Given the description of an element on the screen output the (x, y) to click on. 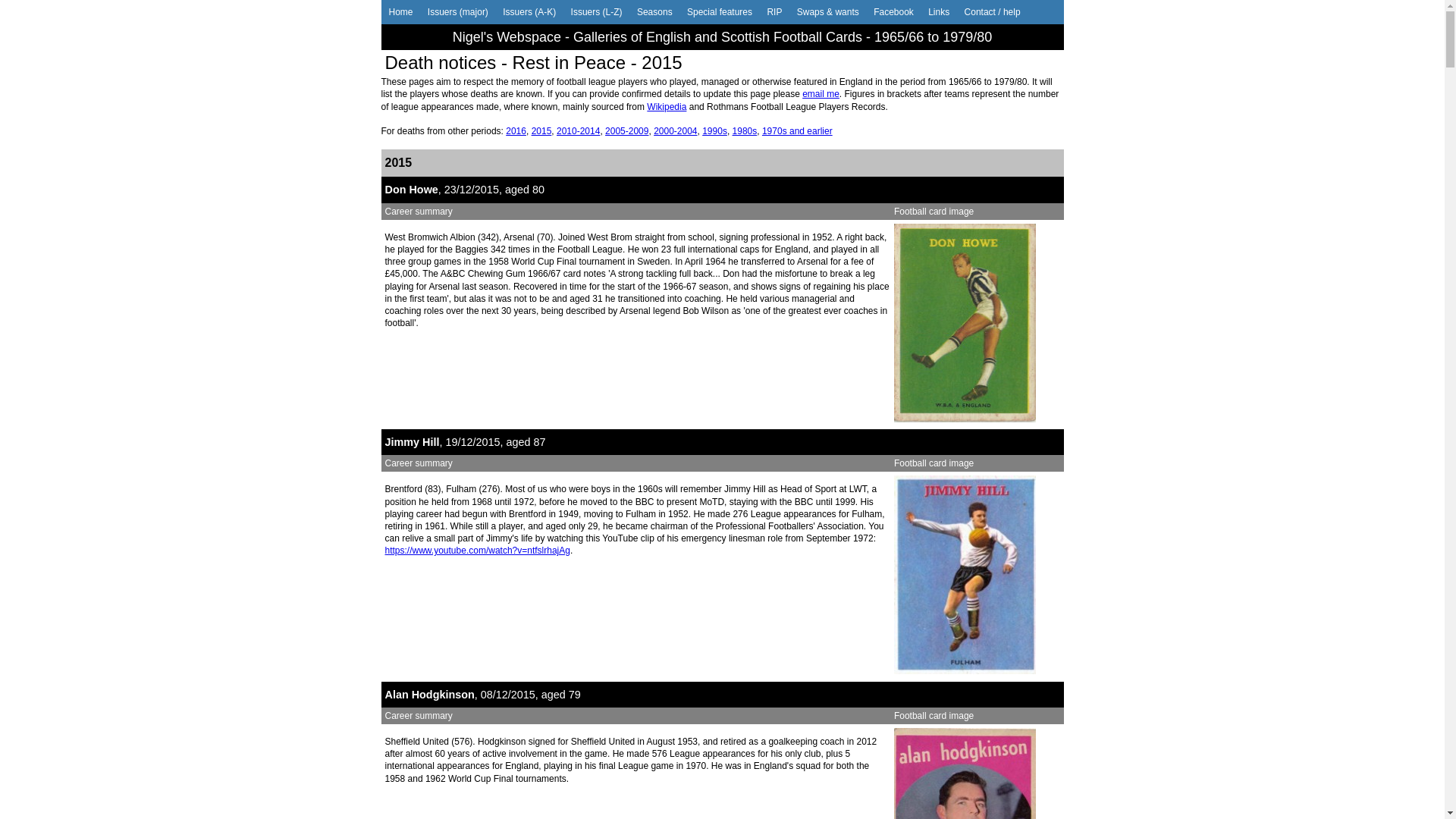
https://www.youtube.com/watch?v=ntfslrhajAg Element type: text (477, 550)
Home Element type: text (400, 11)
2010-2014 Element type: text (577, 130)
1990s Element type: text (714, 130)
Facebook Element type: text (893, 11)
2016 Element type: text (515, 130)
1970s and earlier Element type: text (797, 130)
Links Element type: text (938, 11)
email me Element type: text (820, 93)
2015 Element type: text (541, 130)
Contact / help Element type: text (992, 11)
2000-2004 Element type: text (674, 130)
Wikipedia Element type: text (666, 106)
1980s Element type: text (744, 130)
2005-2009 Element type: text (626, 130)
